Given the description of an element on the screen output the (x, y) to click on. 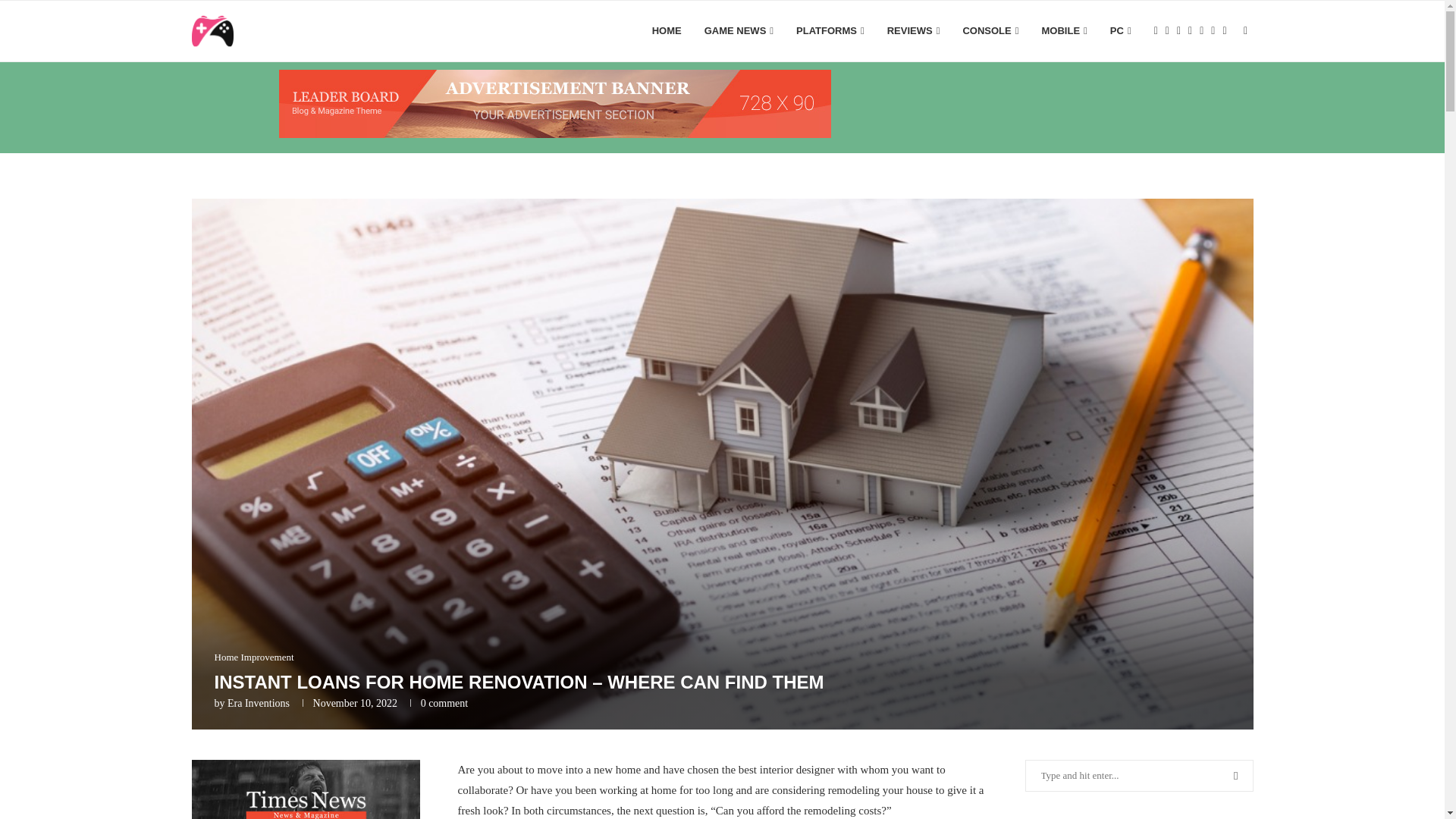
PLATFORMS (830, 30)
CONSOLE (989, 30)
GAME NEWS (738, 30)
